Given the description of an element on the screen output the (x, y) to click on. 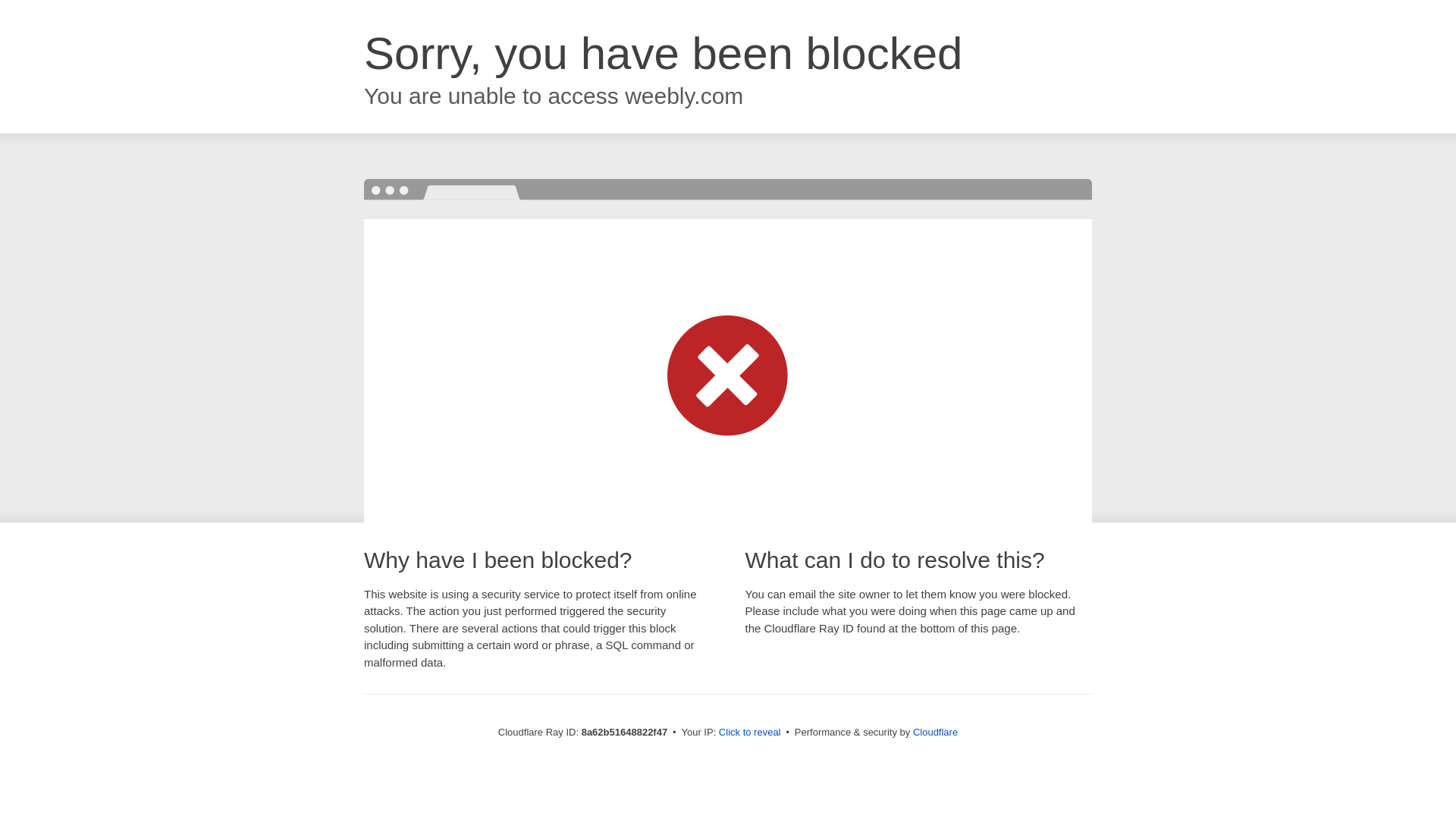
Click to reveal (749, 732)
Cloudflare (935, 731)
